Given the description of an element on the screen output the (x, y) to click on. 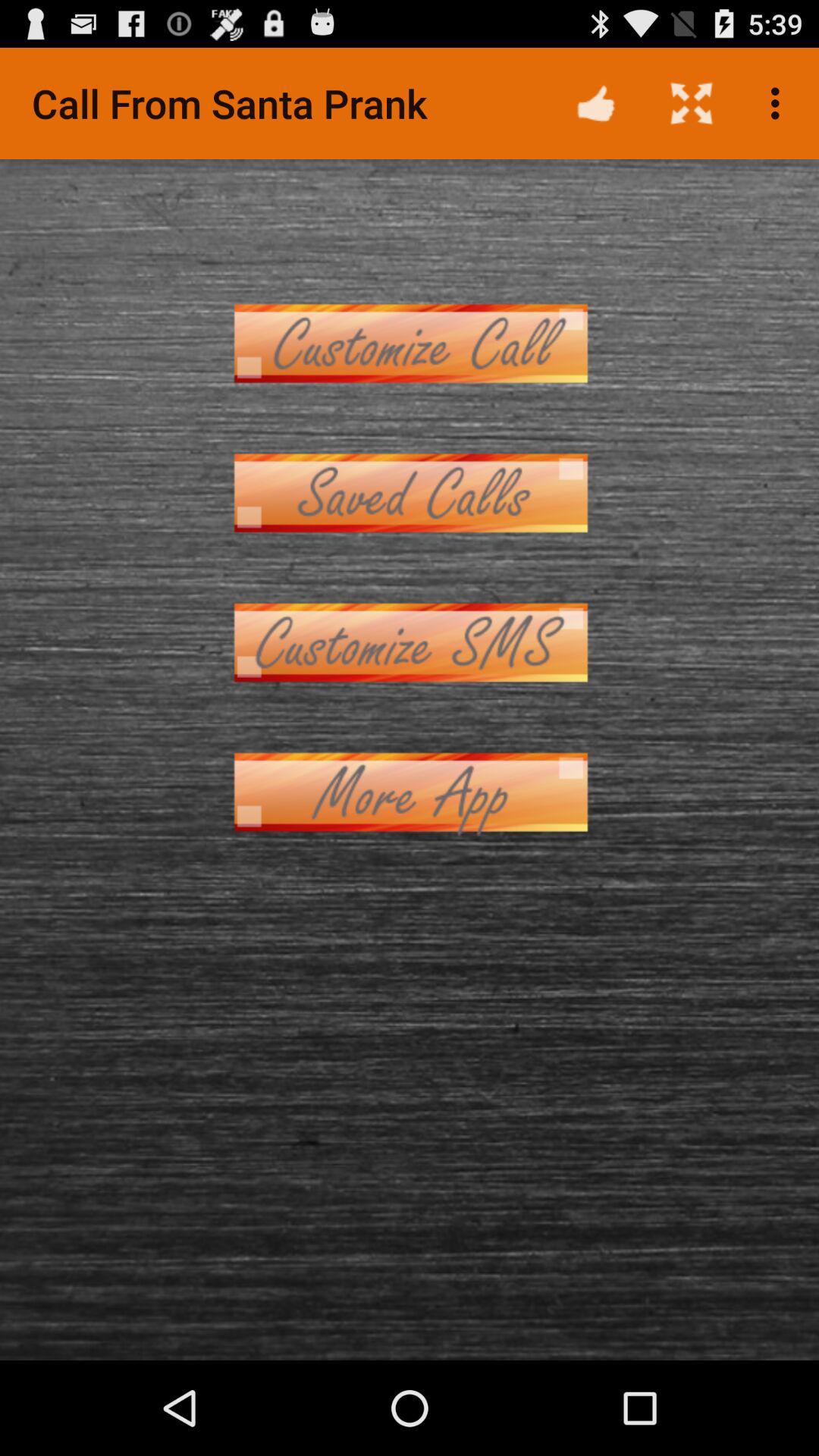
customize call option (409, 343)
